Given the description of an element on the screen output the (x, y) to click on. 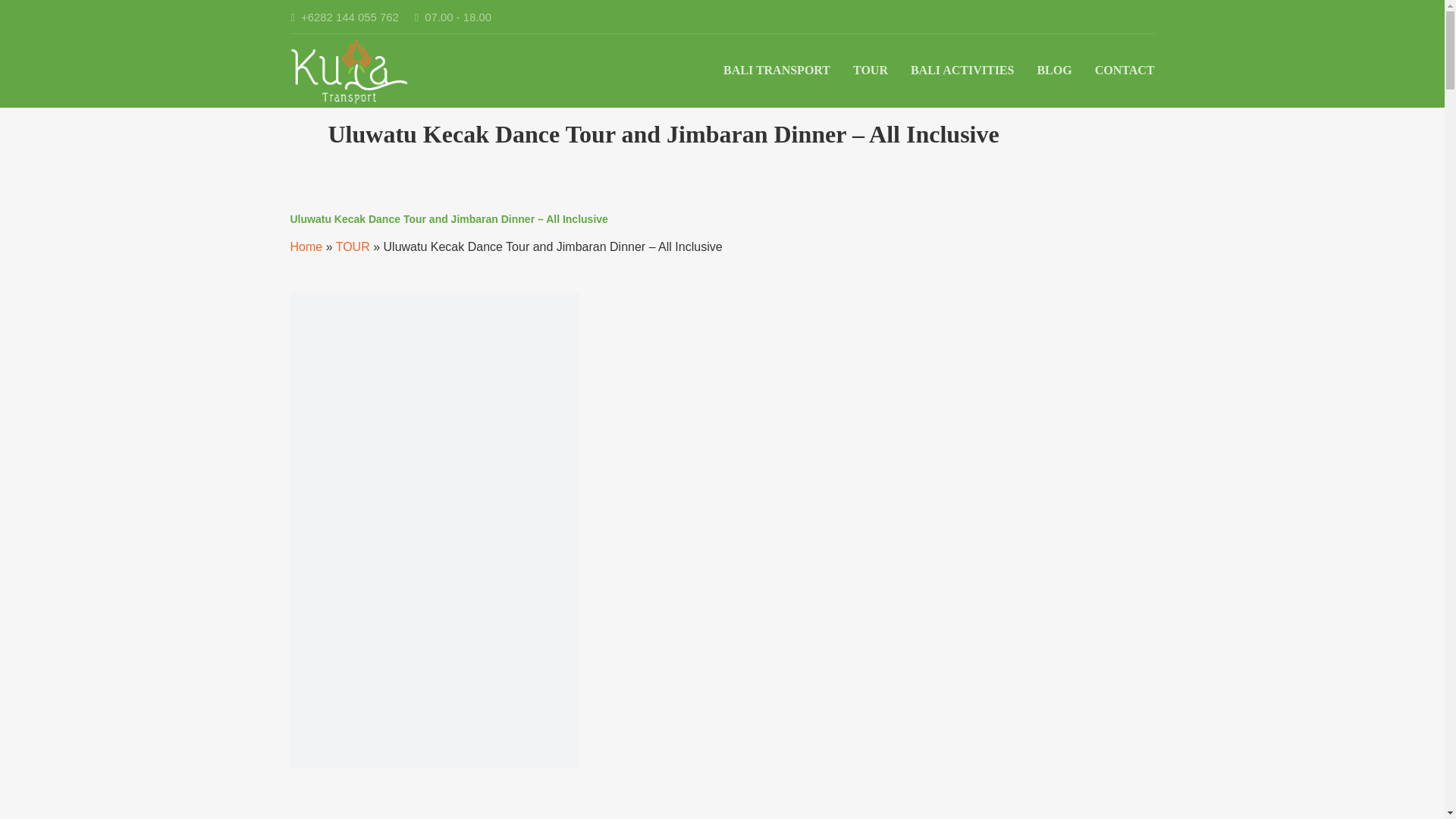
Home (305, 246)
BALI TRANSPORT (776, 69)
BLOG (1053, 69)
TOUR (870, 69)
CONTACT (1124, 69)
TOUR (352, 246)
BALI ACTIVITIES (962, 69)
